Given the description of an element on the screen output the (x, y) to click on. 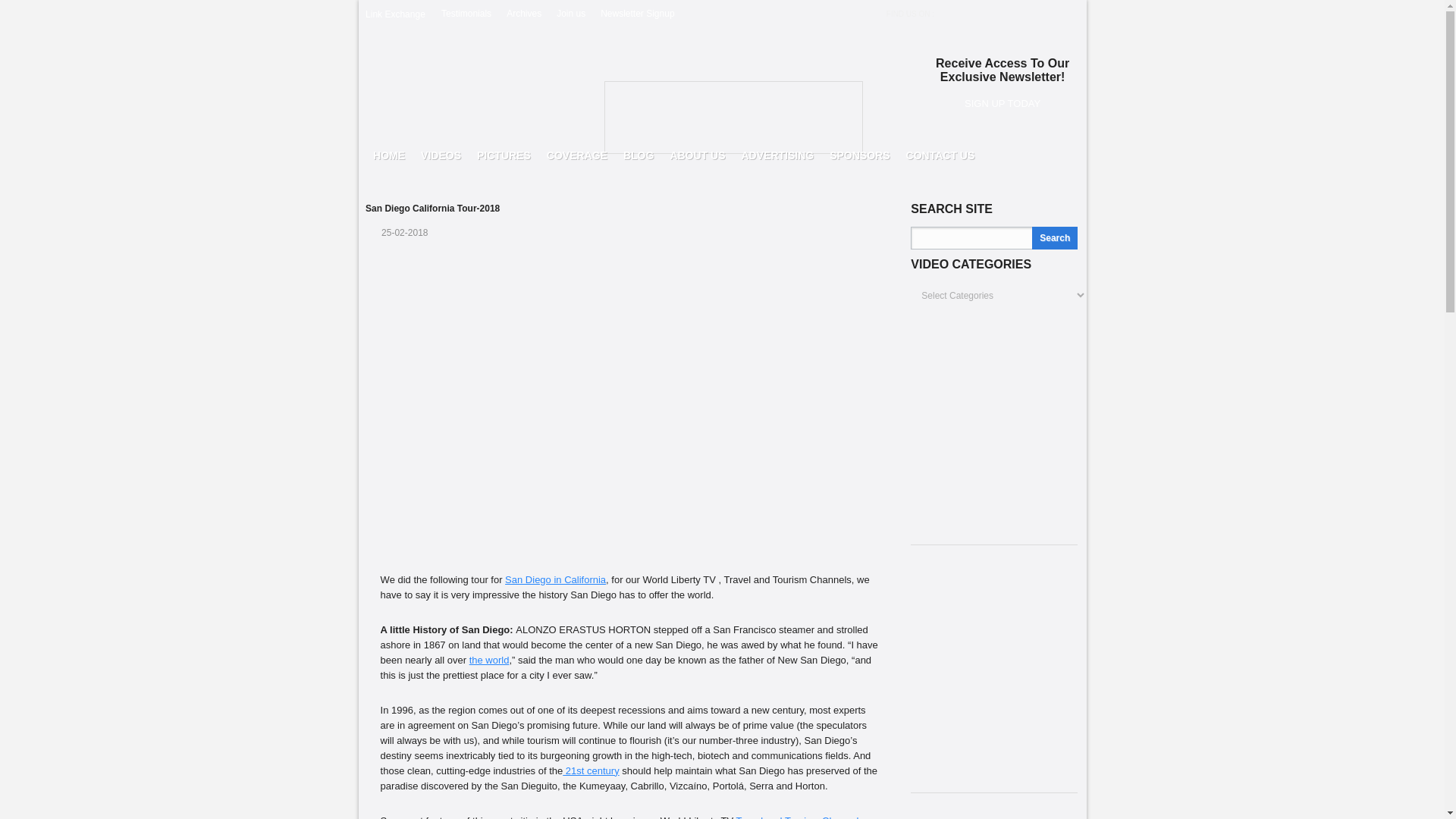
Testimonials (466, 13)
BLOG (638, 155)
Link Exchange (395, 14)
COVERAGE (576, 155)
the world (488, 659)
21st century (590, 770)
PICTURES (503, 155)
Join us (570, 13)
San Diego in California (555, 579)
